Given the description of an element on the screen output the (x, y) to click on. 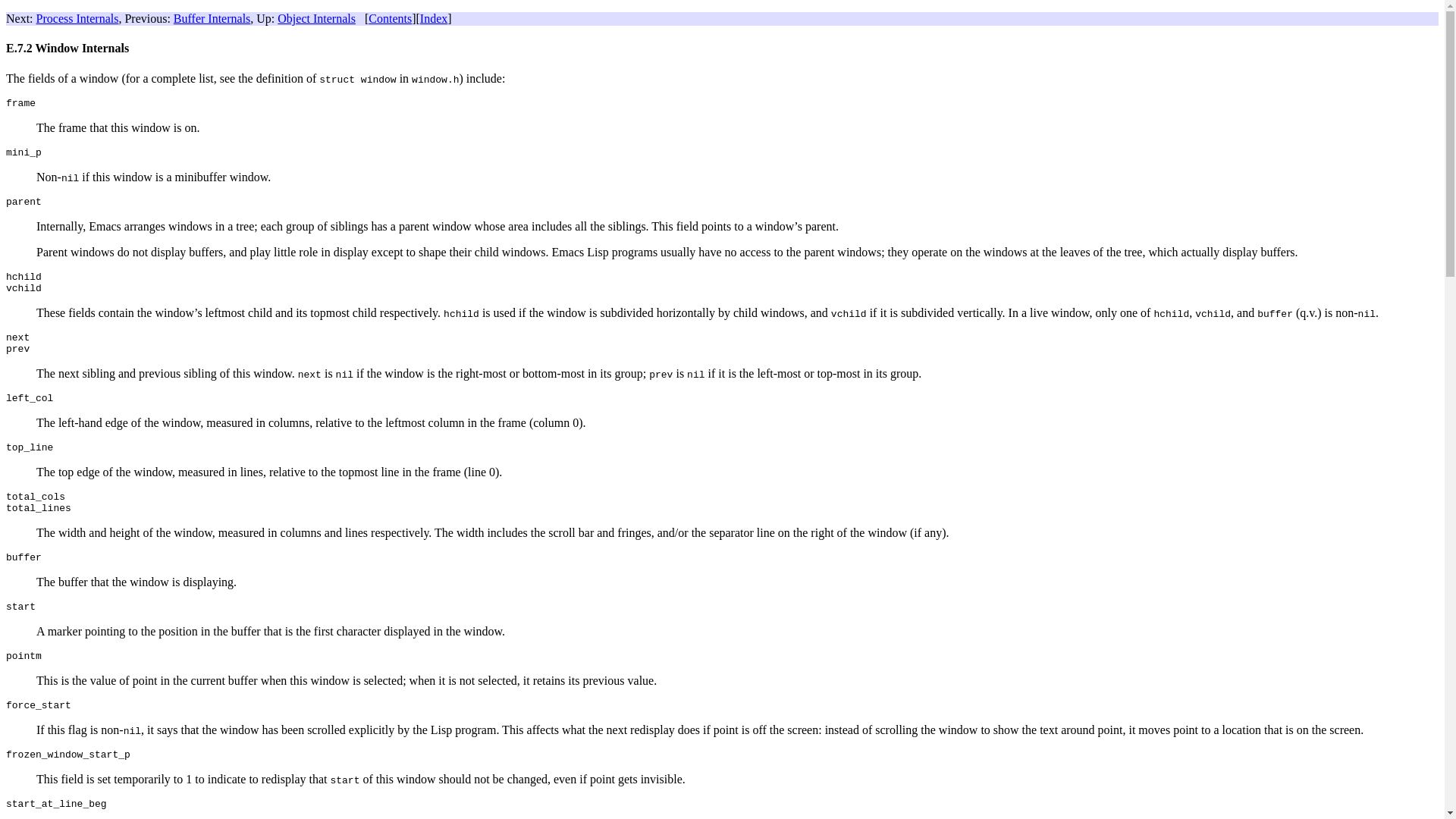
Object Internals (316, 18)
Buffer Internals (211, 18)
Index (433, 18)
Index (433, 18)
Contents (390, 18)
Table of contents (390, 18)
Process Internals (77, 18)
